Given the description of an element on the screen output the (x, y) to click on. 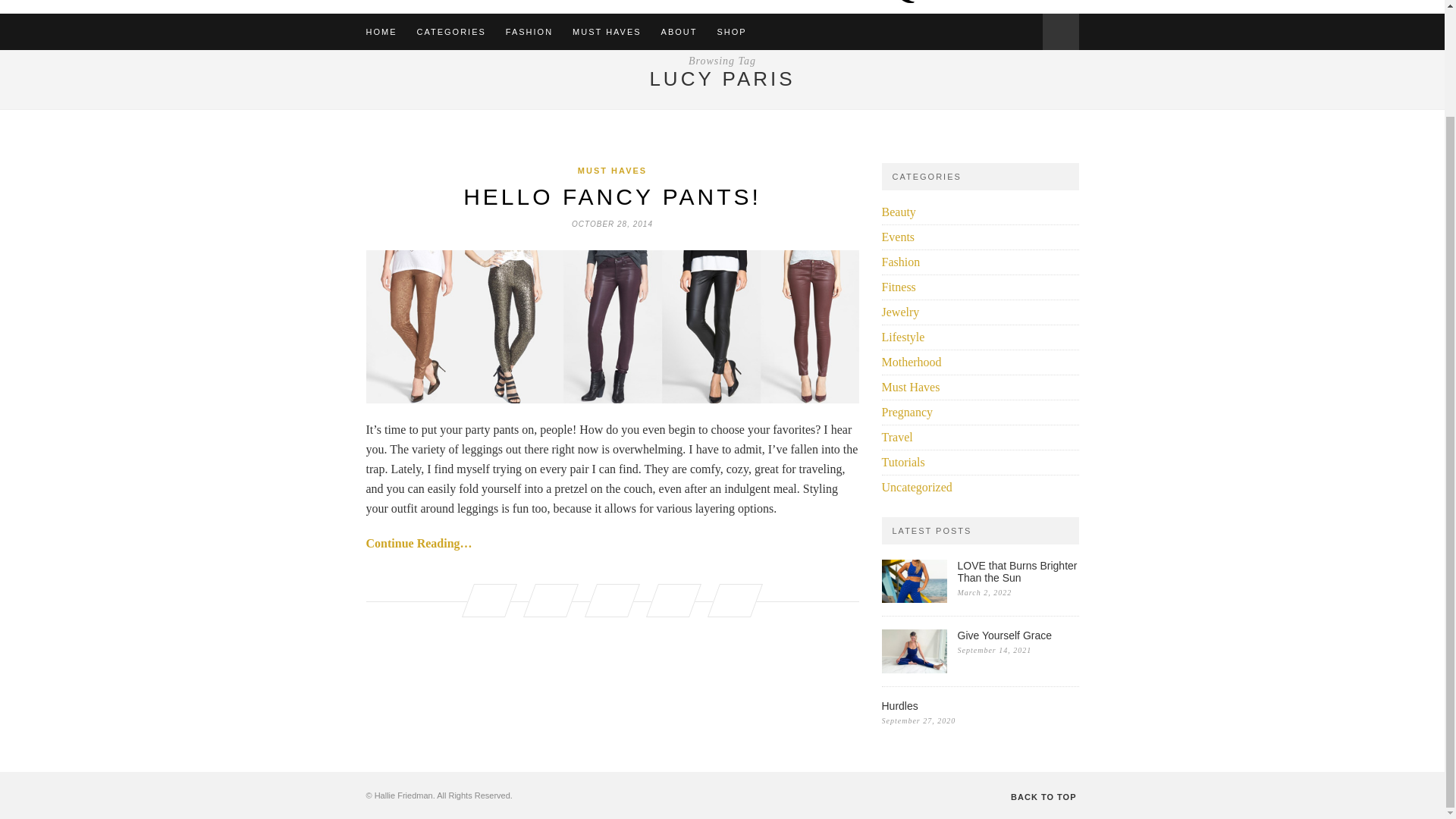
Permanent Link: Hurdles (979, 705)
Permanent Link: Give Yourself Grace (913, 668)
Permanent Link: Give Yourself Grace (1017, 635)
View all posts in Must Haves (612, 170)
Permanent Link: LOVE that Burns Brighter Than the Sun (1017, 571)
Permanent Link: LOVE that Burns Brighter Than the Sun (913, 598)
